Given the description of an element on the screen output the (x, y) to click on. 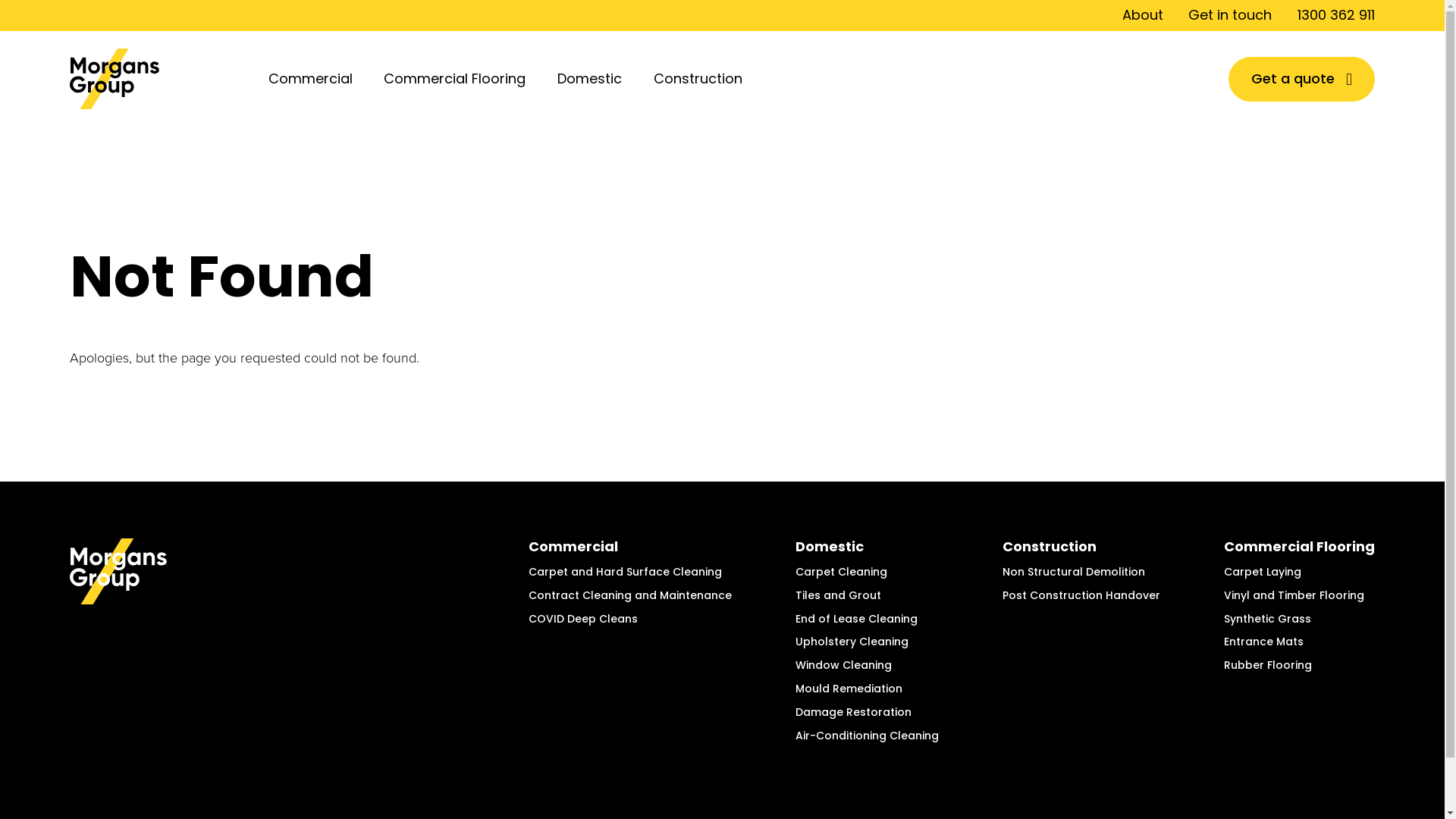
Domestic Element type: text (592, 78)
Carpet Cleaning Element type: text (841, 571)
COVID Deep Cleans Element type: text (582, 618)
About Element type: text (1142, 15)
End of Lease Cleaning Element type: text (856, 618)
Tiles and Grout Element type: text (838, 594)
Carpet Laying Element type: text (1262, 571)
Commercial Flooring Element type: text (1298, 545)
Synthetic Grass Element type: text (1267, 618)
Air-Conditioning Cleaning Element type: text (866, 735)
Get a quote Element type: text (1301, 78)
Construction Element type: text (700, 78)
Window Cleaning Element type: text (843, 664)
Commercial Flooring Element type: text (457, 78)
Commercial Element type: text (573, 545)
Carpet and Hard Surface Cleaning Element type: text (624, 571)
1300 362 911 Element type: text (1335, 15)
Rubber Flooring Element type: text (1267, 664)
Non Structural Demolition Element type: text (1073, 571)
Get in touch Element type: text (1229, 15)
Commercial Element type: text (313, 78)
Morgans Group Element type: hover (278, 645)
Upholstery Cleaning Element type: text (851, 641)
Domestic Element type: text (829, 545)
Entrance Mats Element type: text (1263, 641)
Morgans Group Element type: hover (155, 78)
Mould Remediation Element type: text (848, 688)
Construction Element type: text (1049, 545)
Vinyl and Timber Flooring Element type: text (1293, 594)
Post Construction Handover Element type: text (1081, 594)
Damage Restoration Element type: text (853, 711)
Contract Cleaning and Maintenance Element type: text (629, 594)
